Given the description of an element on the screen output the (x, y) to click on. 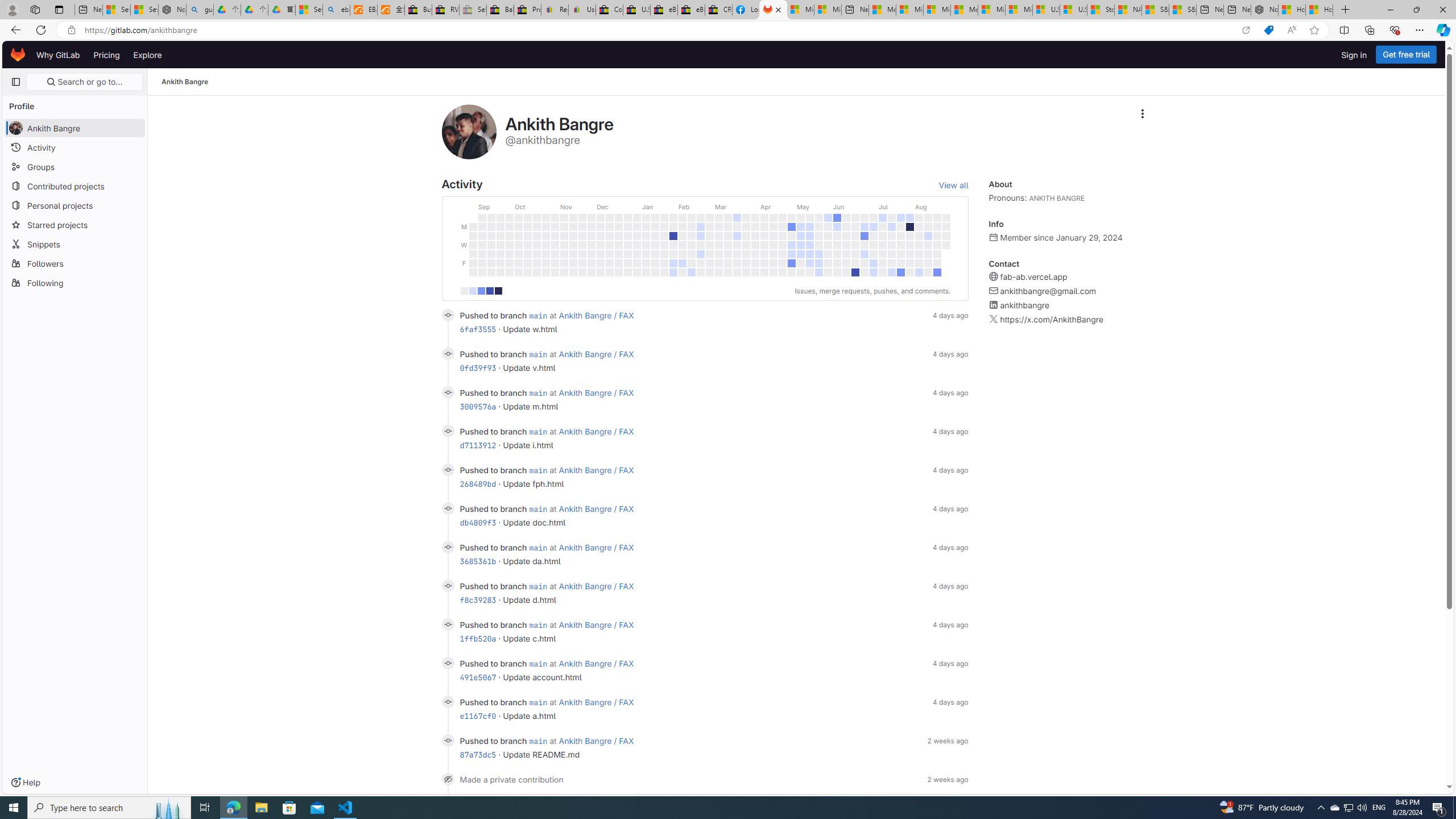
Class: s14 icon (448, 778)
Homepage (17, 54)
